Given the description of an element on the screen output the (x, y) to click on. 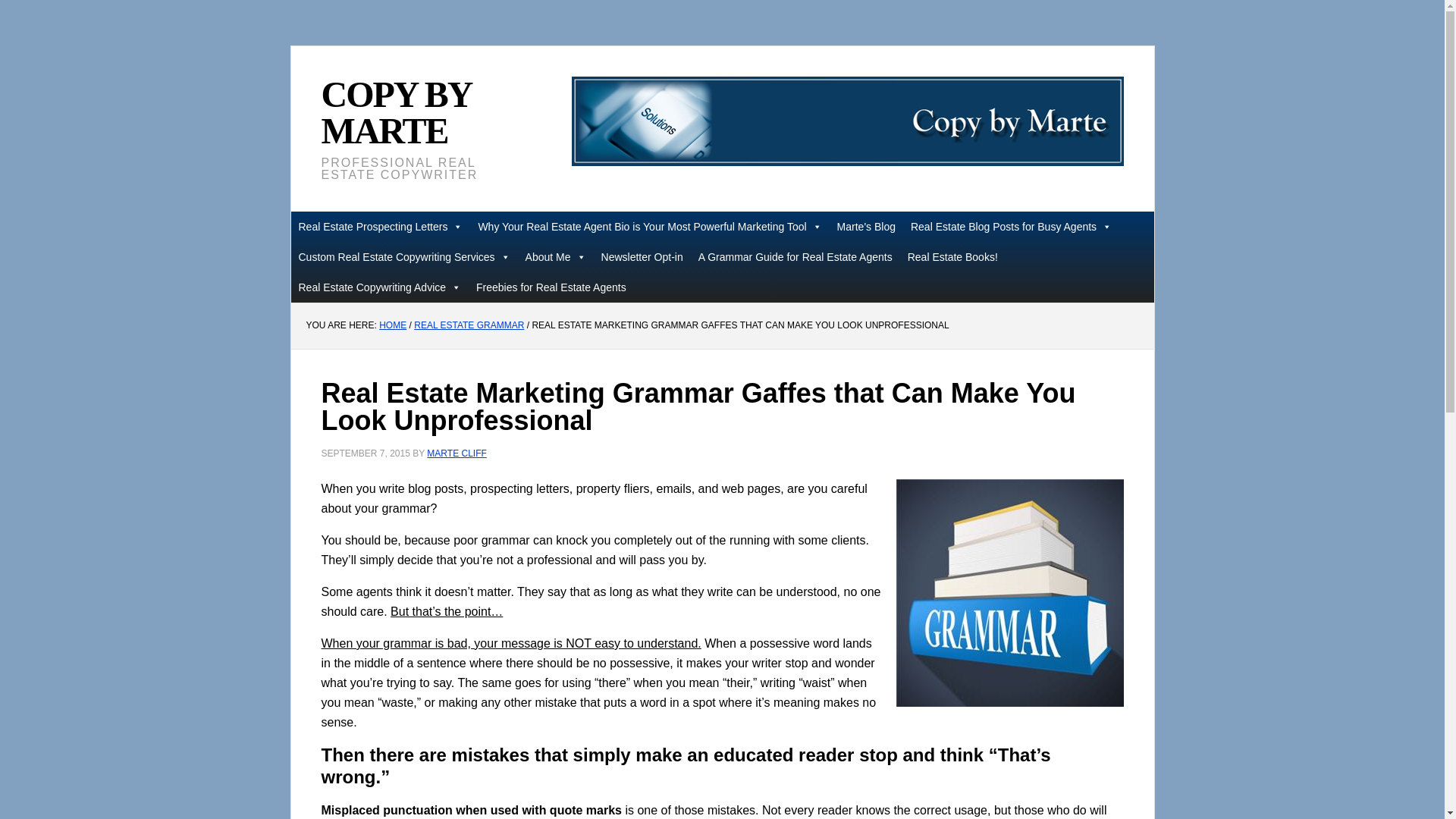
Real Estate Prospecting Letters (380, 226)
A Grammar Guide for Real Estate Agents (794, 256)
Marte's Blog (865, 226)
Custom Real Estate Copywriting Services (404, 256)
COPY BY MARTE (395, 112)
Real Estate Copyrighting (848, 121)
About Me (556, 256)
Real Estate Books! (952, 256)
Newsletter Opt-in (642, 256)
Real Estate Copywriting Advice (379, 286)
Real Estate Blog Posts for Busy Agents (1010, 226)
CSS Classes (380, 226)
